Given the description of an element on the screen output the (x, y) to click on. 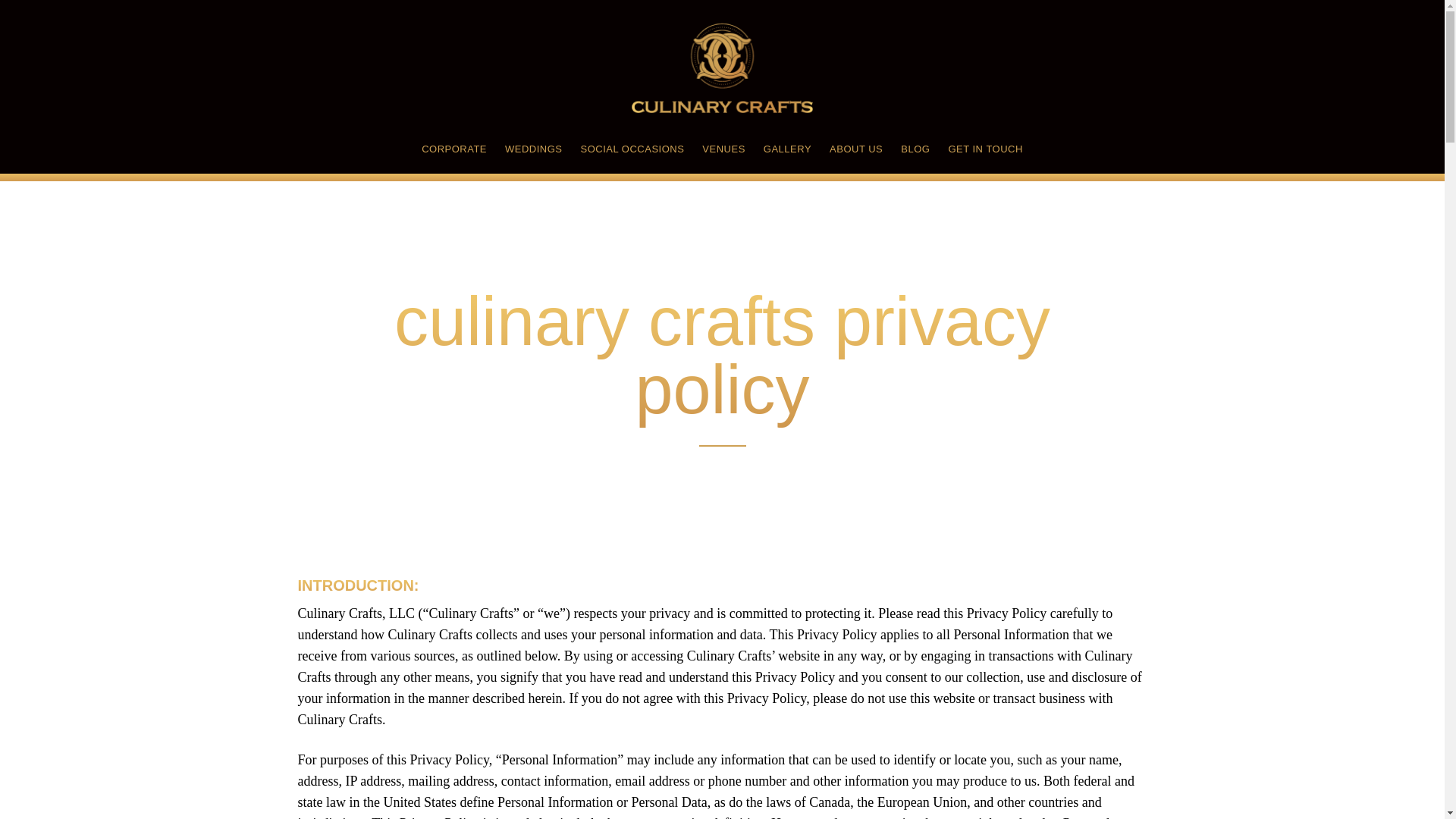
CORPORATE (454, 151)
GALLERY (786, 151)
VENUES (722, 151)
BLOG (915, 151)
SOCIAL OCCASIONS (632, 151)
GET IN TOUCH (984, 151)
WEDDINGS (533, 151)
ABOUT US (855, 151)
